Given the description of an element on the screen output the (x, y) to click on. 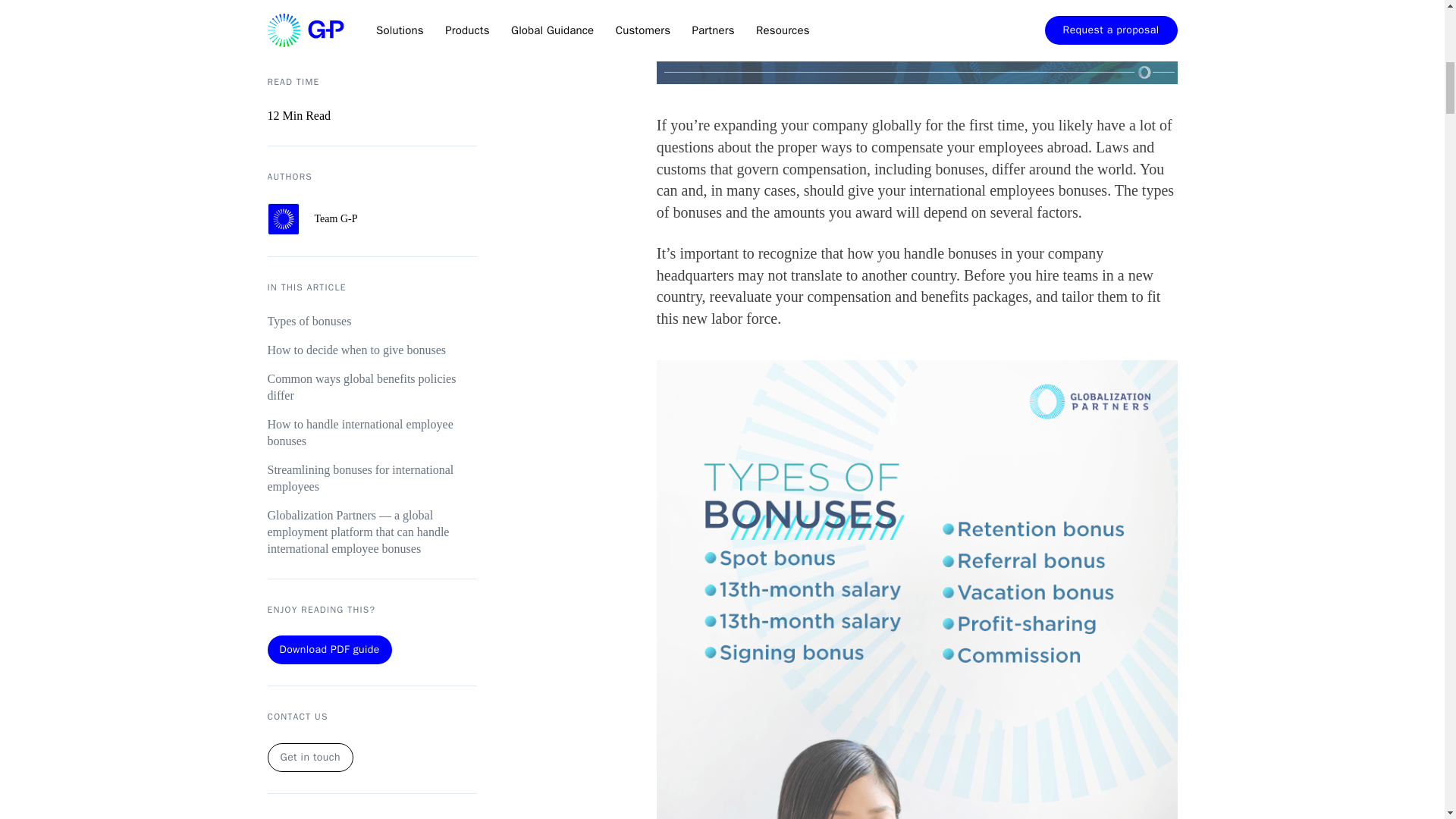
Common ways global benefits policies differ (371, 139)
How to handle international employee bonuses (371, 184)
Types of bonuses (371, 73)
Streamlining bonuses for international employees (371, 230)
Get in touch (309, 509)
How to decide when to give bonuses (371, 102)
Download PDF guide (328, 401)
